Given the description of an element on the screen output the (x, y) to click on. 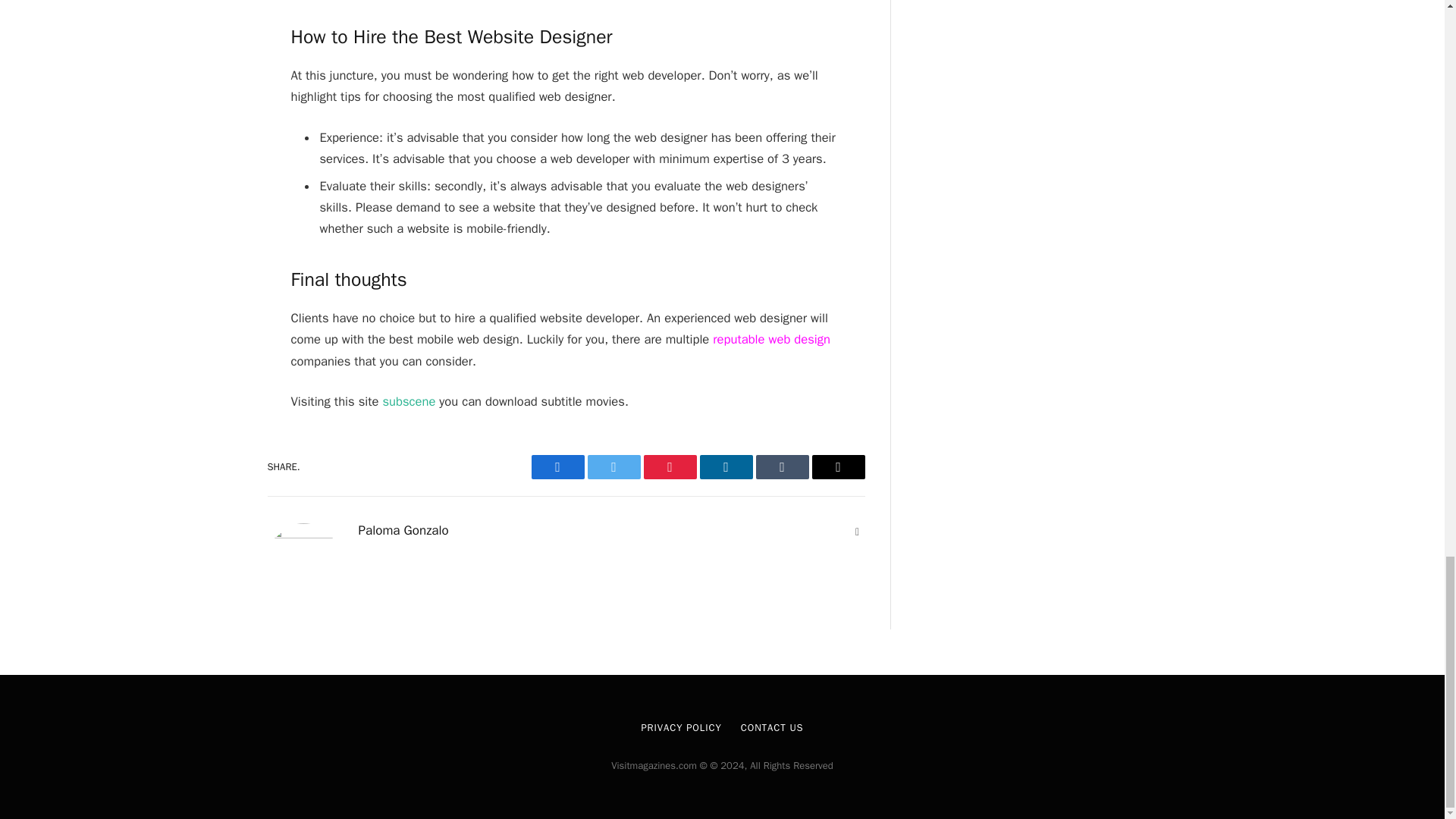
subscene (408, 401)
reputable web design (771, 339)
Facebook (557, 467)
